Given the description of an element on the screen output the (x, y) to click on. 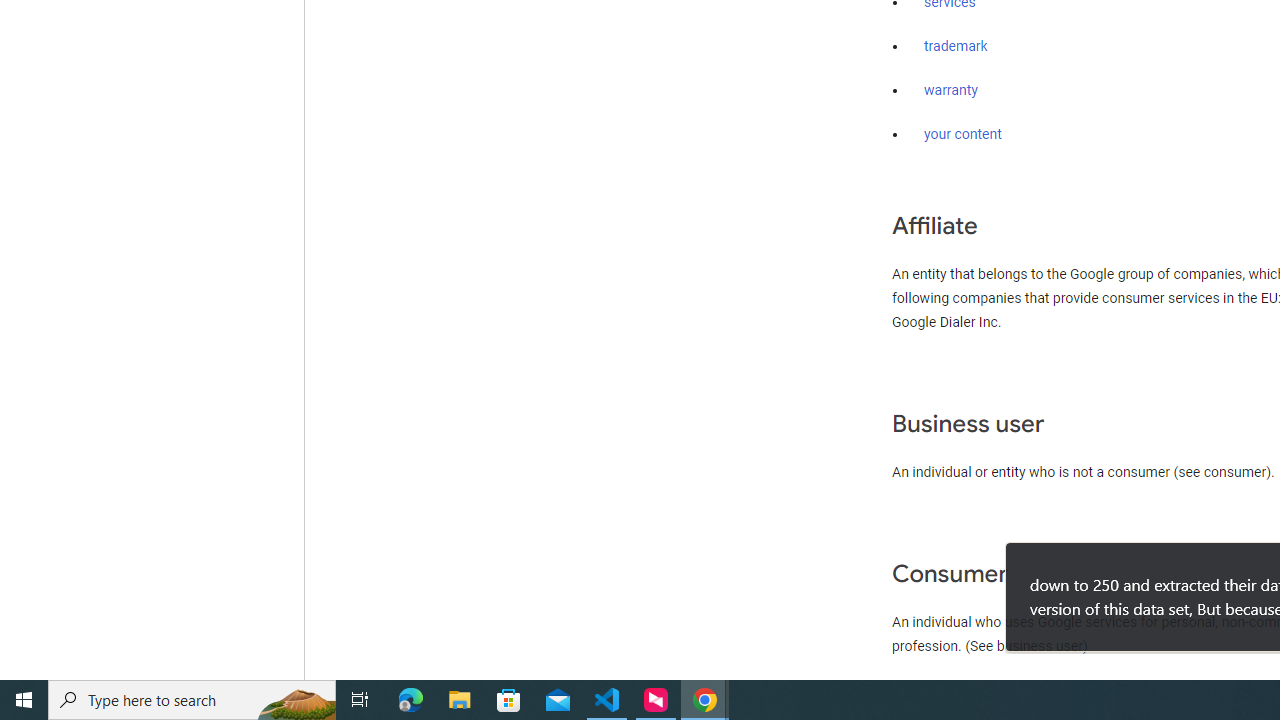
your content (963, 134)
warranty (950, 91)
trademark (956, 47)
